Given the description of an element on the screen output the (x, y) to click on. 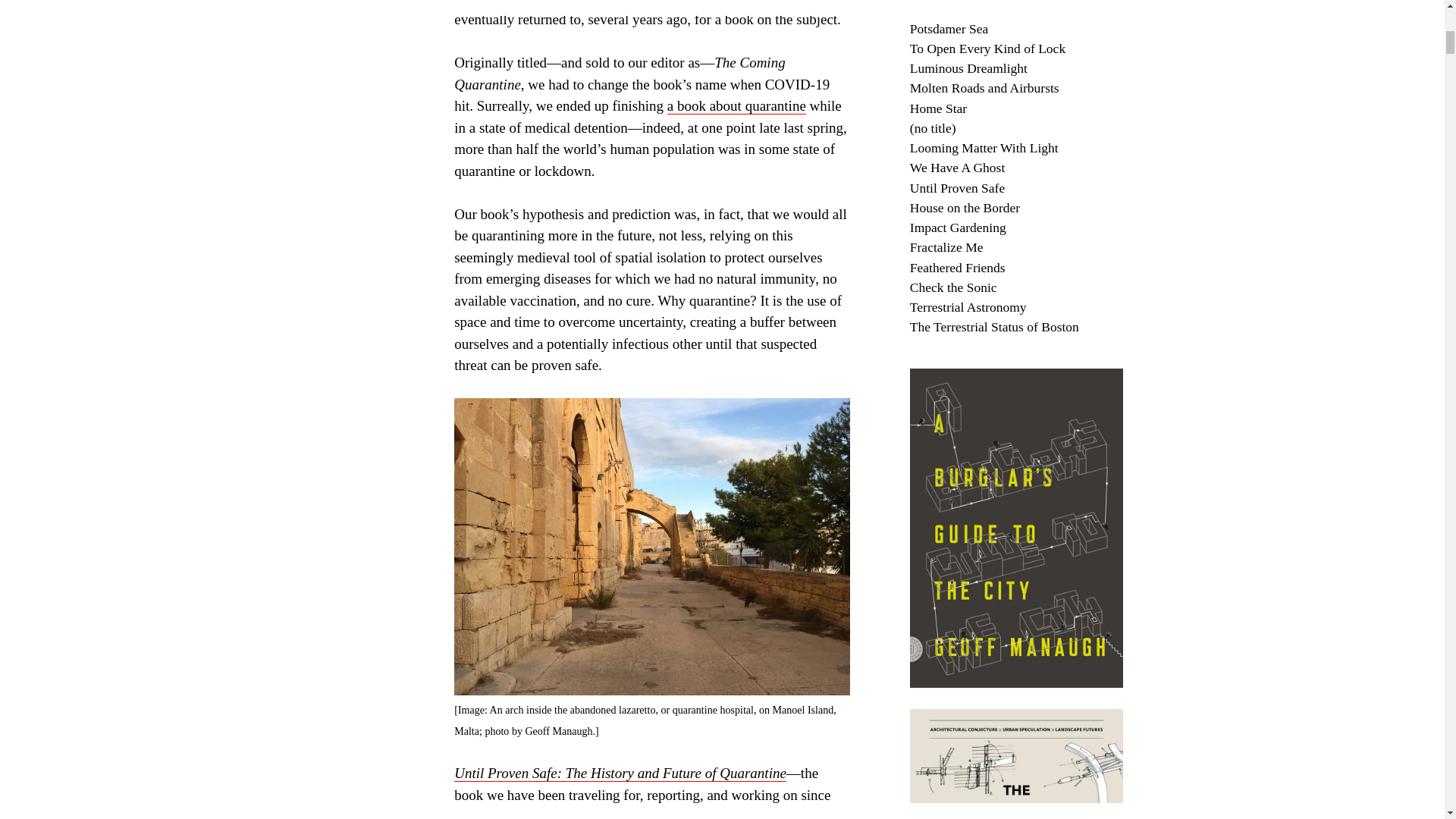
a book about quarantine (736, 105)
Until Proven Safe: The History and Future of Quarantine (620, 773)
